Given the description of an element on the screen output the (x, y) to click on. 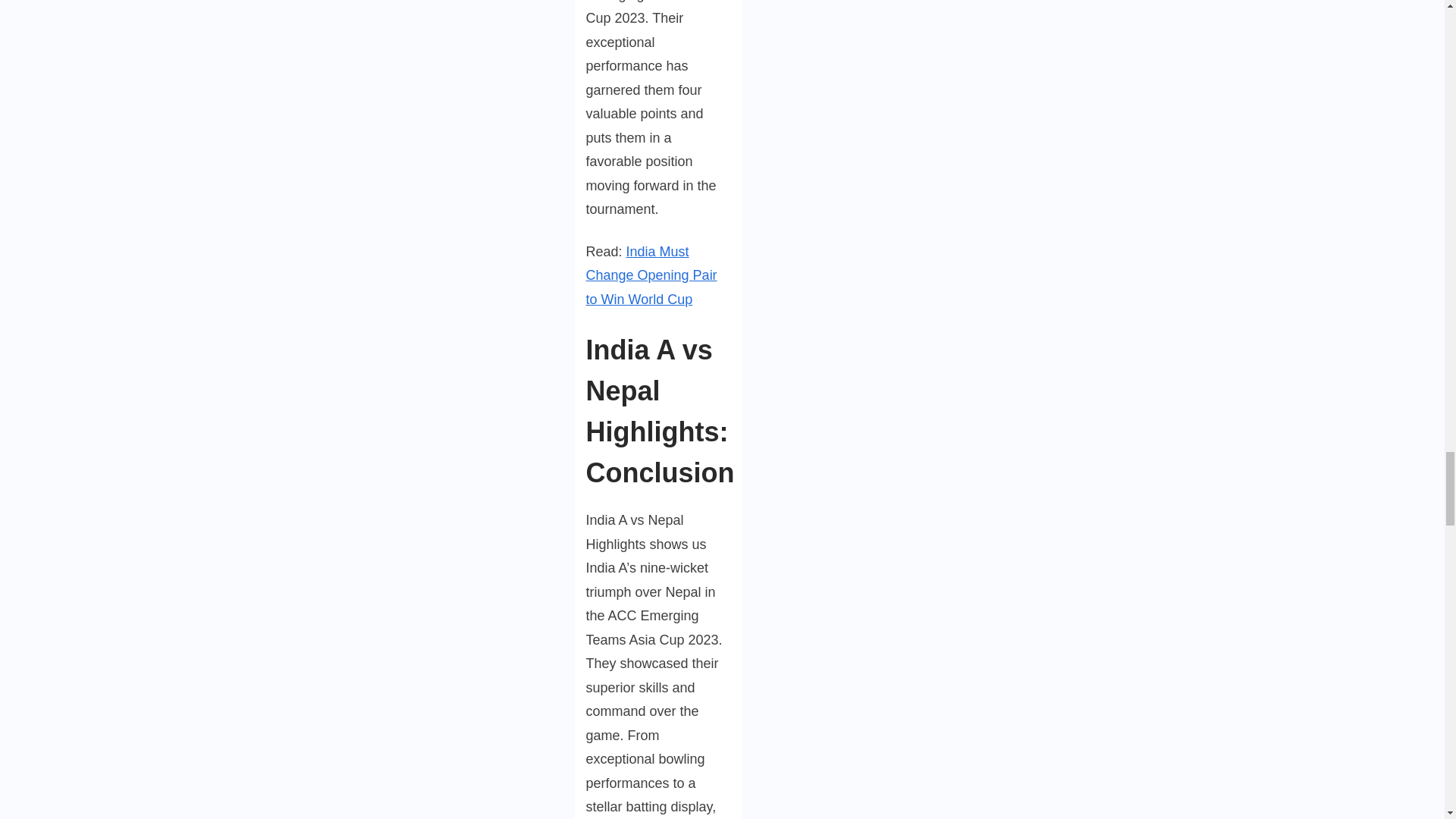
India Must Change Opening Pair to Win World Cup (650, 275)
